Given the description of an element on the screen output the (x, y) to click on. 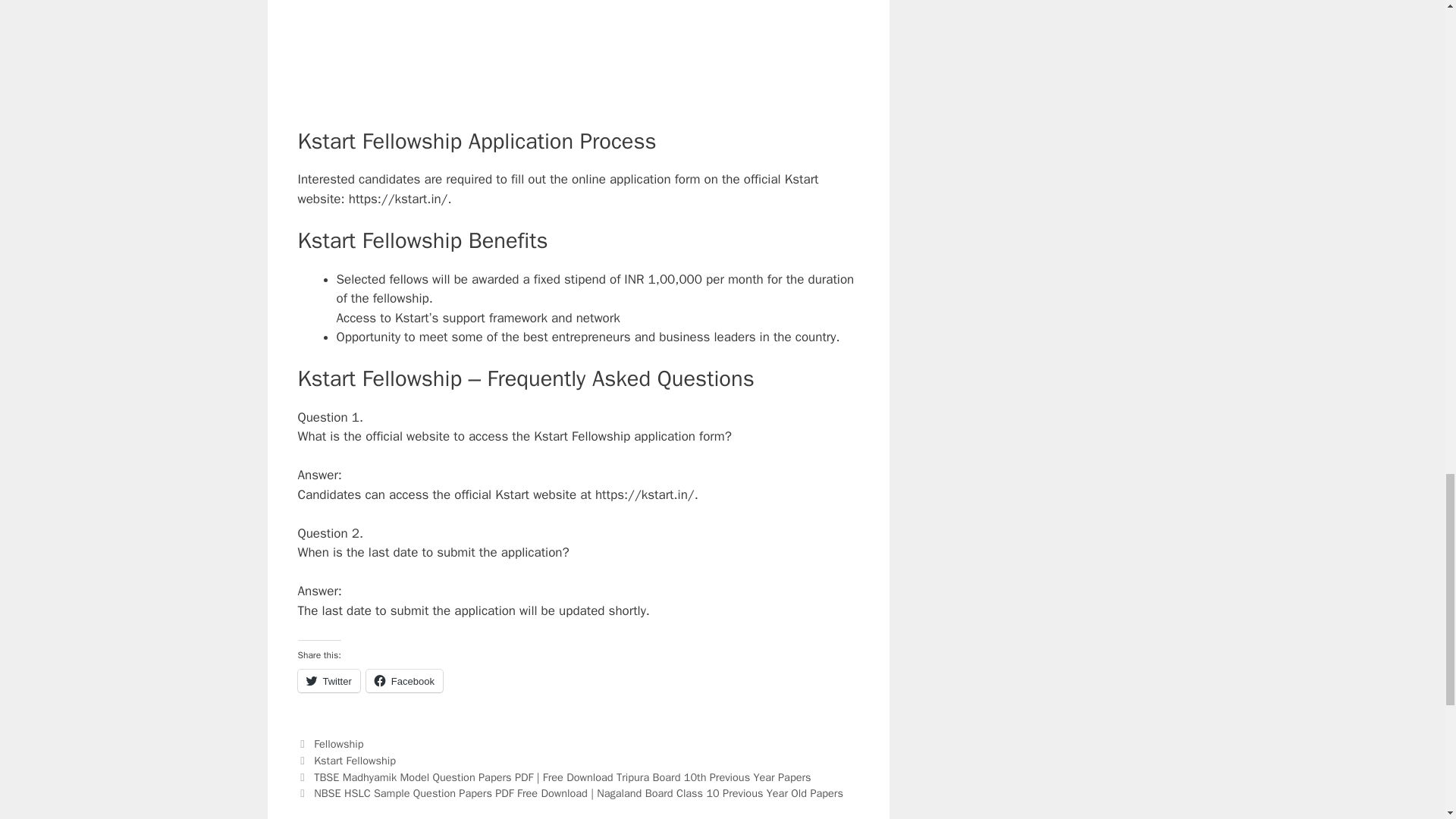
Kstart Fellowship (355, 760)
Twitter (328, 680)
Click to share on Facebook (404, 680)
Fellowship (338, 744)
Facebook (404, 680)
Click to share on Twitter (328, 680)
